Given the description of an element on the screen output the (x, y) to click on. 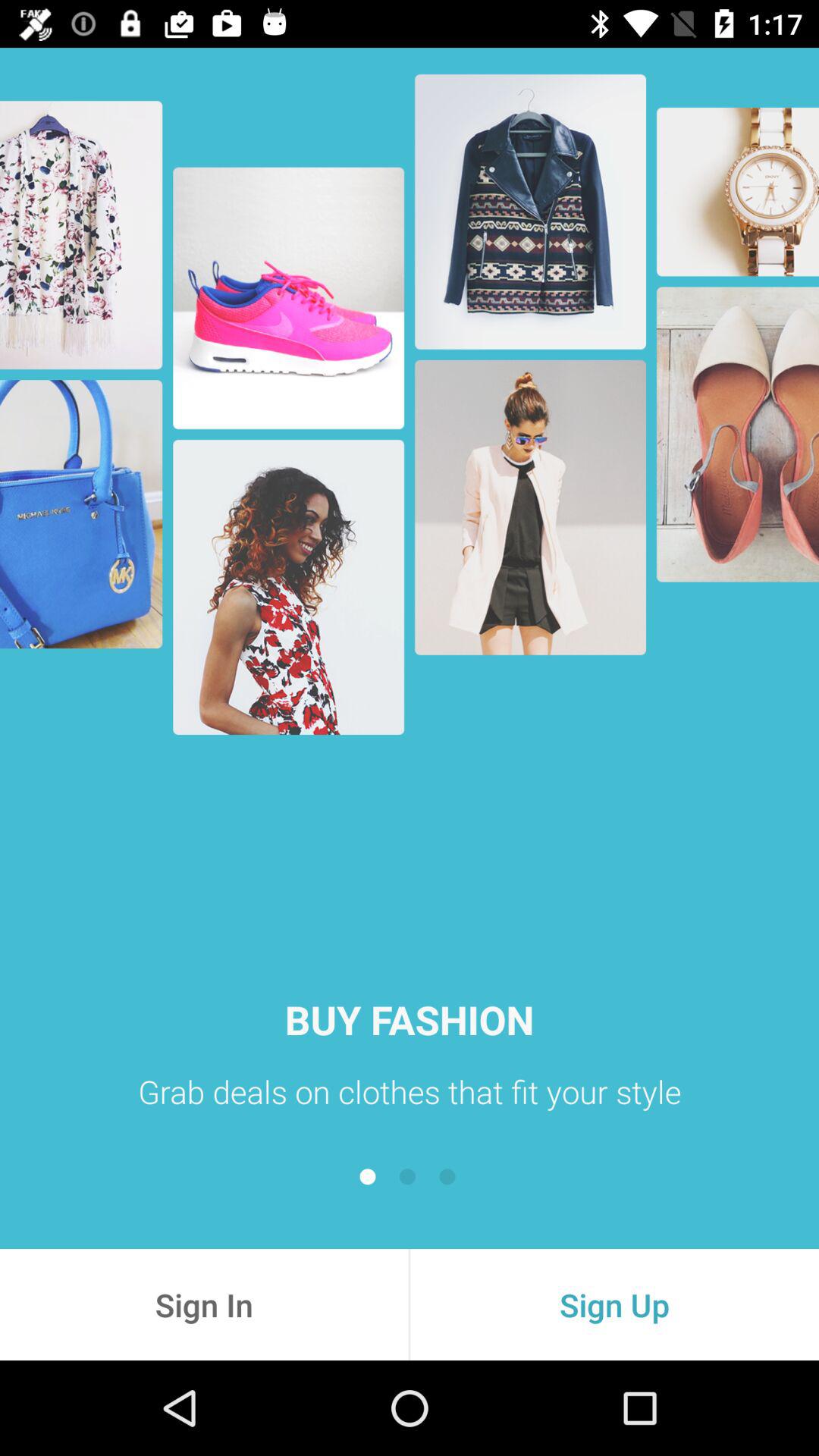
turn on the item at the bottom left corner (204, 1304)
